Given the description of an element on the screen output the (x, y) to click on. 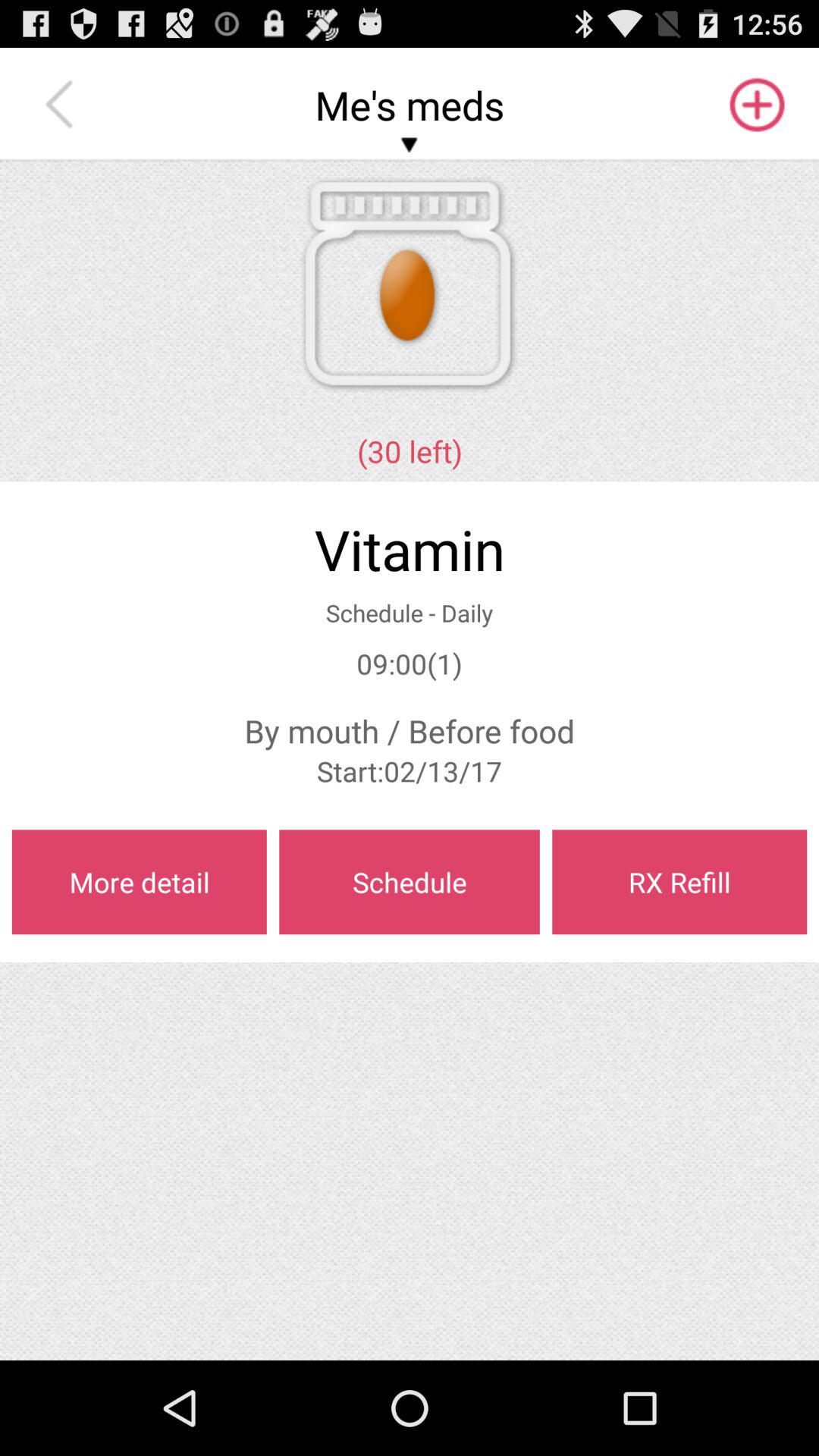
choose the item at the top right corner (755, 104)
